Given the description of an element on the screen output the (x, y) to click on. 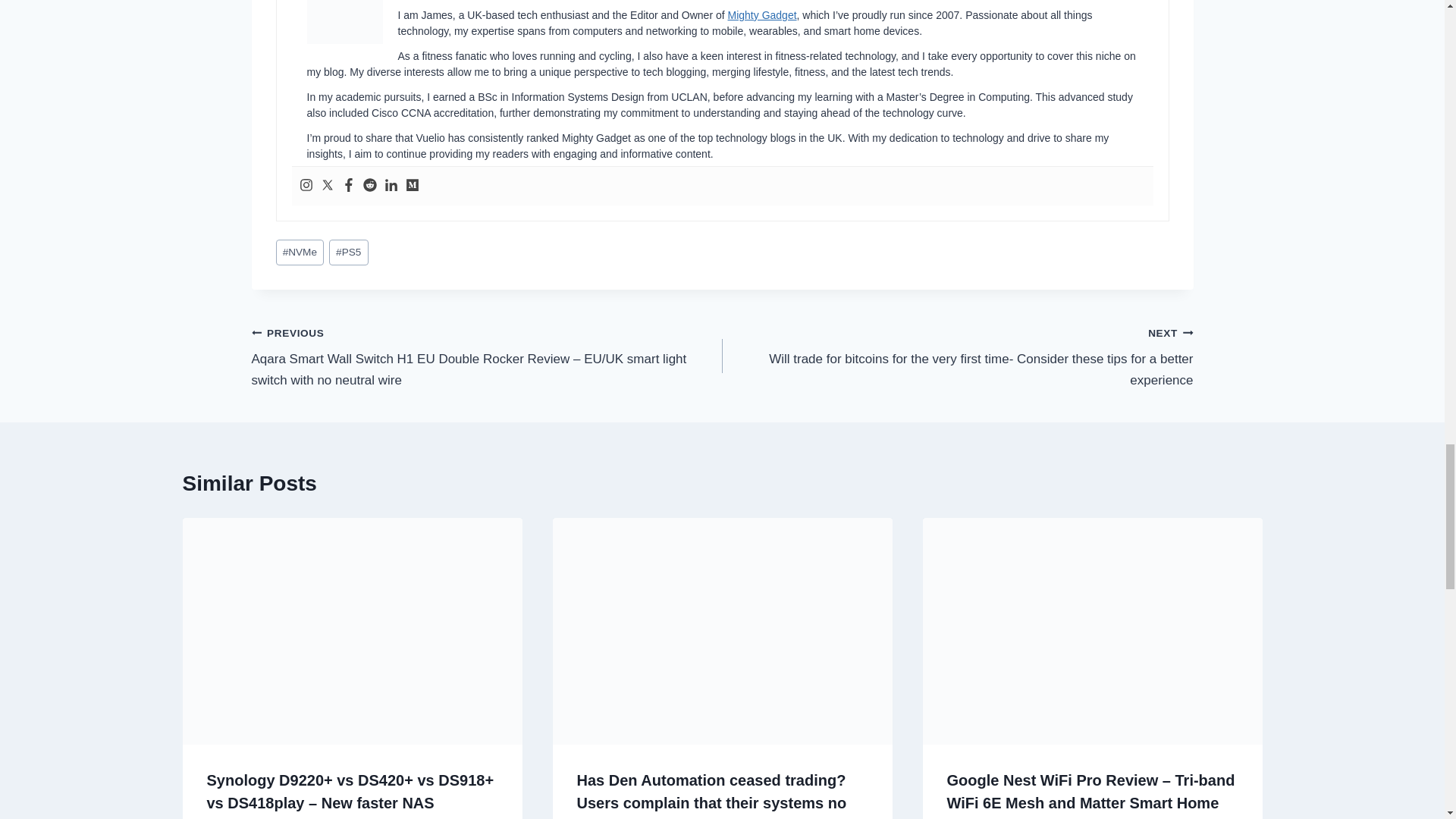
6658afeebfcb2c289ed52f37daf69159 (343, 22)
Mighty Gadget (762, 15)
